Given the description of an element on the screen output the (x, y) to click on. 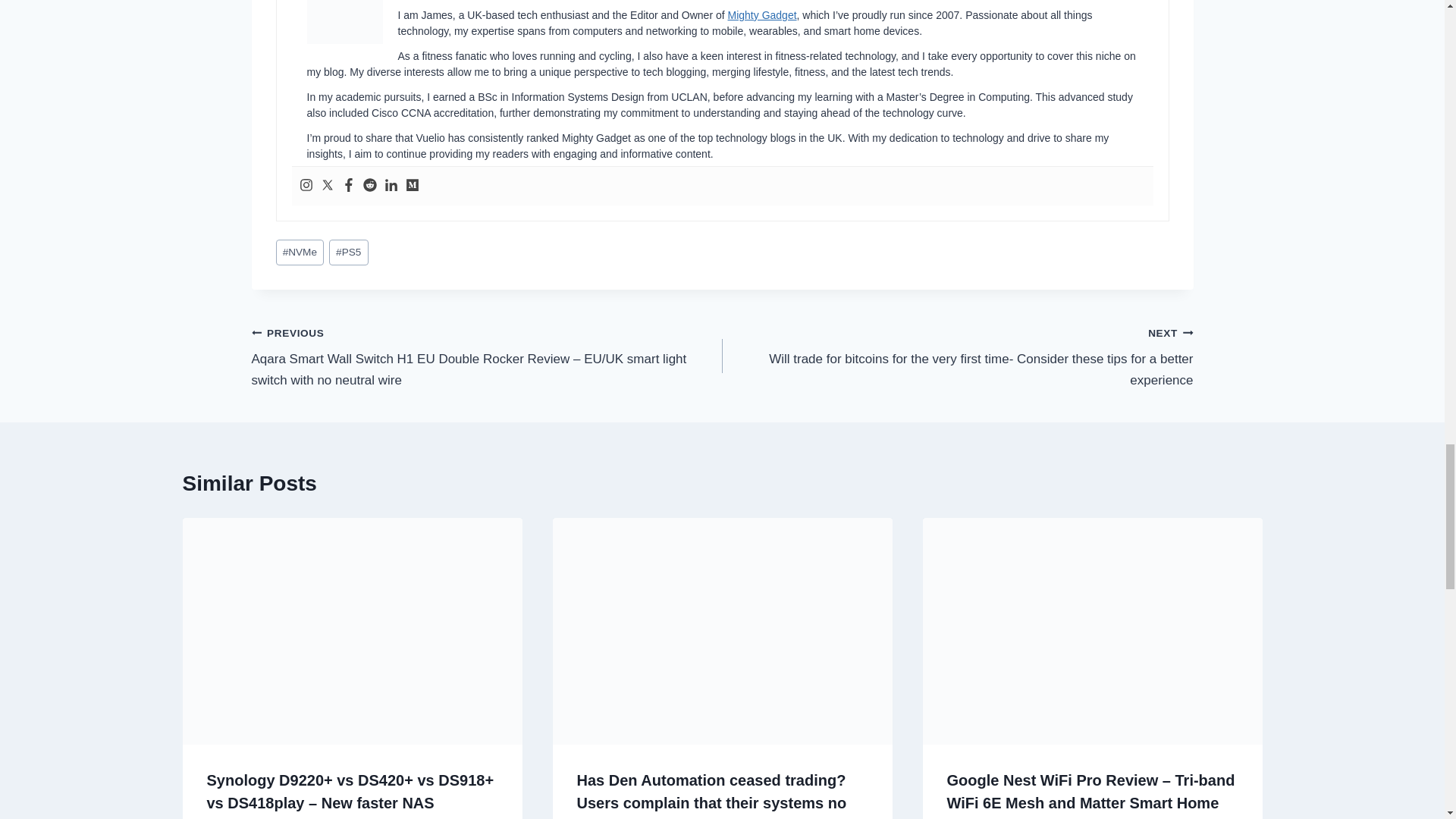
6658afeebfcb2c289ed52f37daf69159 (343, 22)
Mighty Gadget (762, 15)
